Given the description of an element on the screen output the (x, y) to click on. 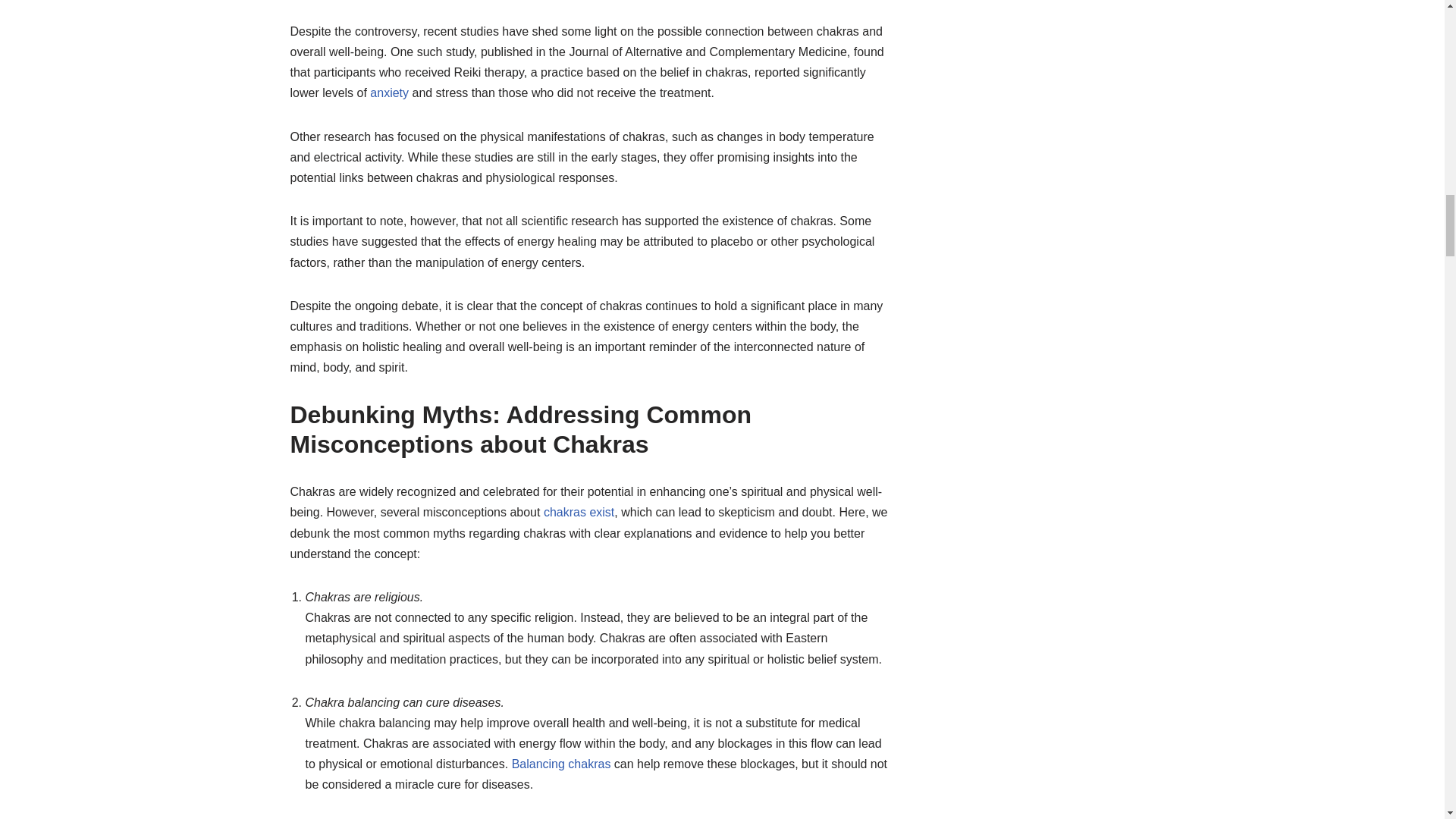
anxiety (389, 92)
Balancing chakras (561, 763)
chakras exist (578, 512)
anxiety (389, 92)
chakras exist (578, 512)
